Given the description of an element on the screen output the (x, y) to click on. 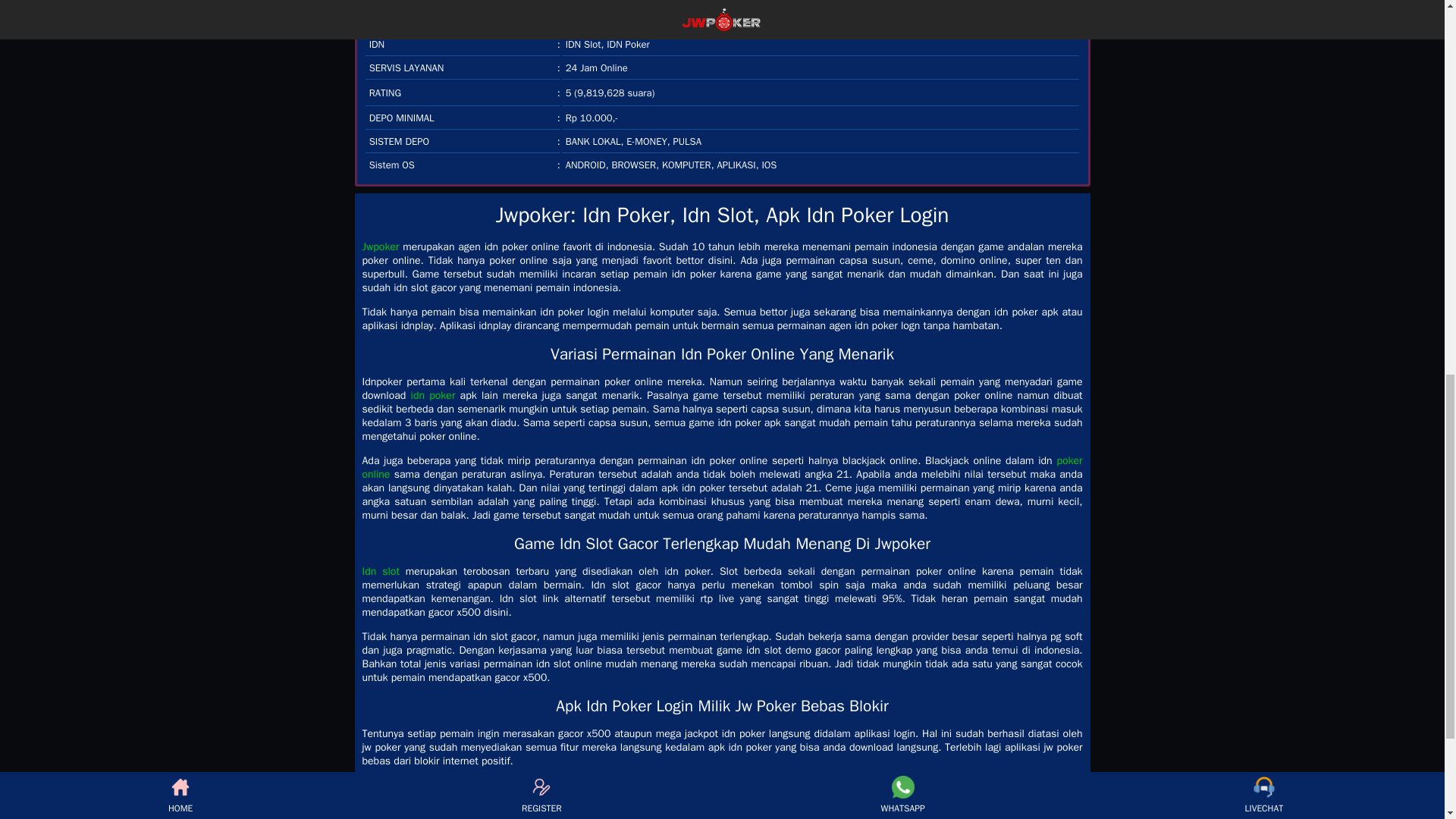
Jwpoker (380, 246)
poker online (722, 467)
Idn slot (380, 571)
idn poker (432, 395)
